Given the description of an element on the screen output the (x, y) to click on. 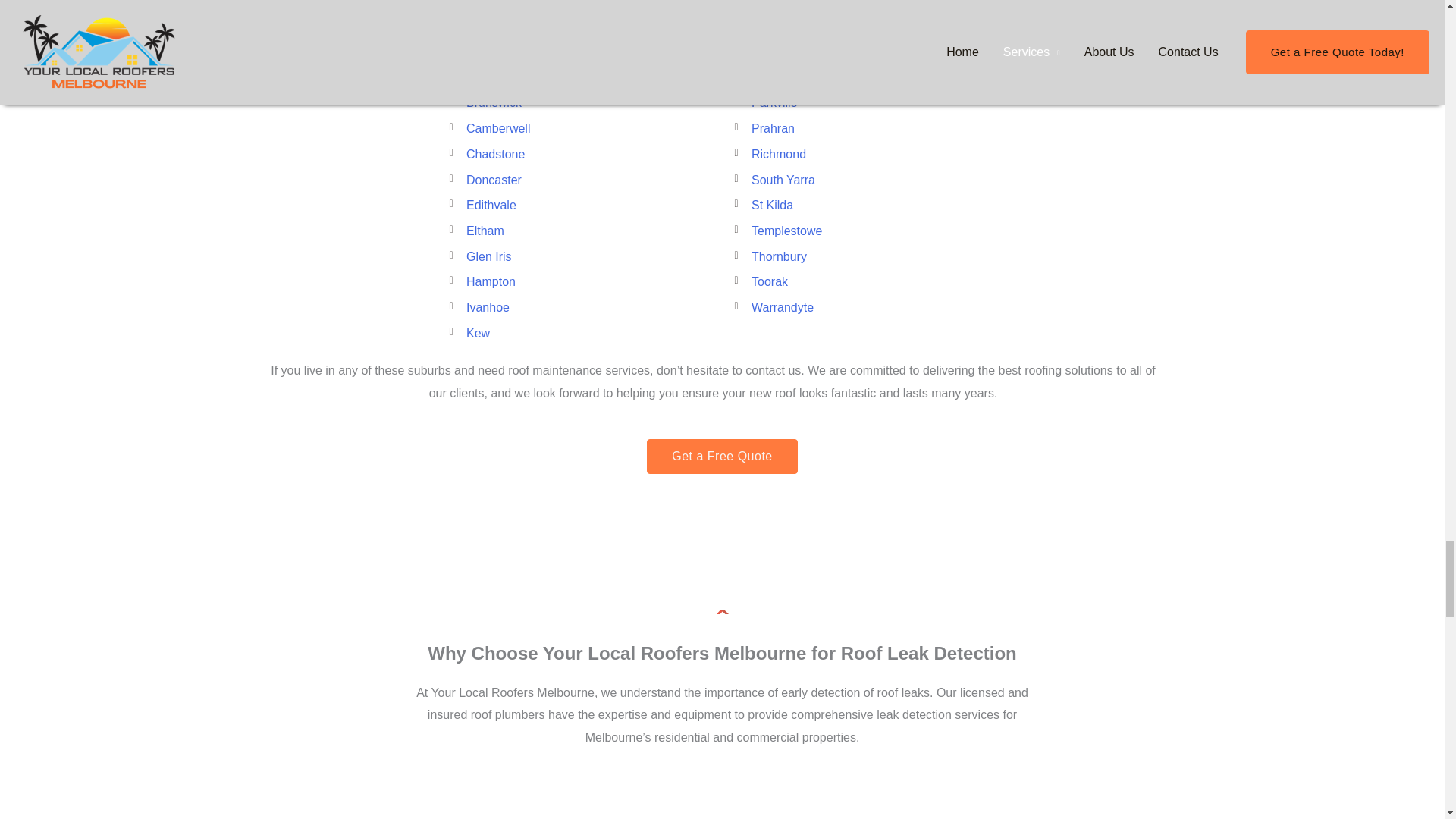
Bentleigh (579, 51)
Aspendale (579, 6)
Balwyn (579, 26)
